Given the description of an element on the screen output the (x, y) to click on. 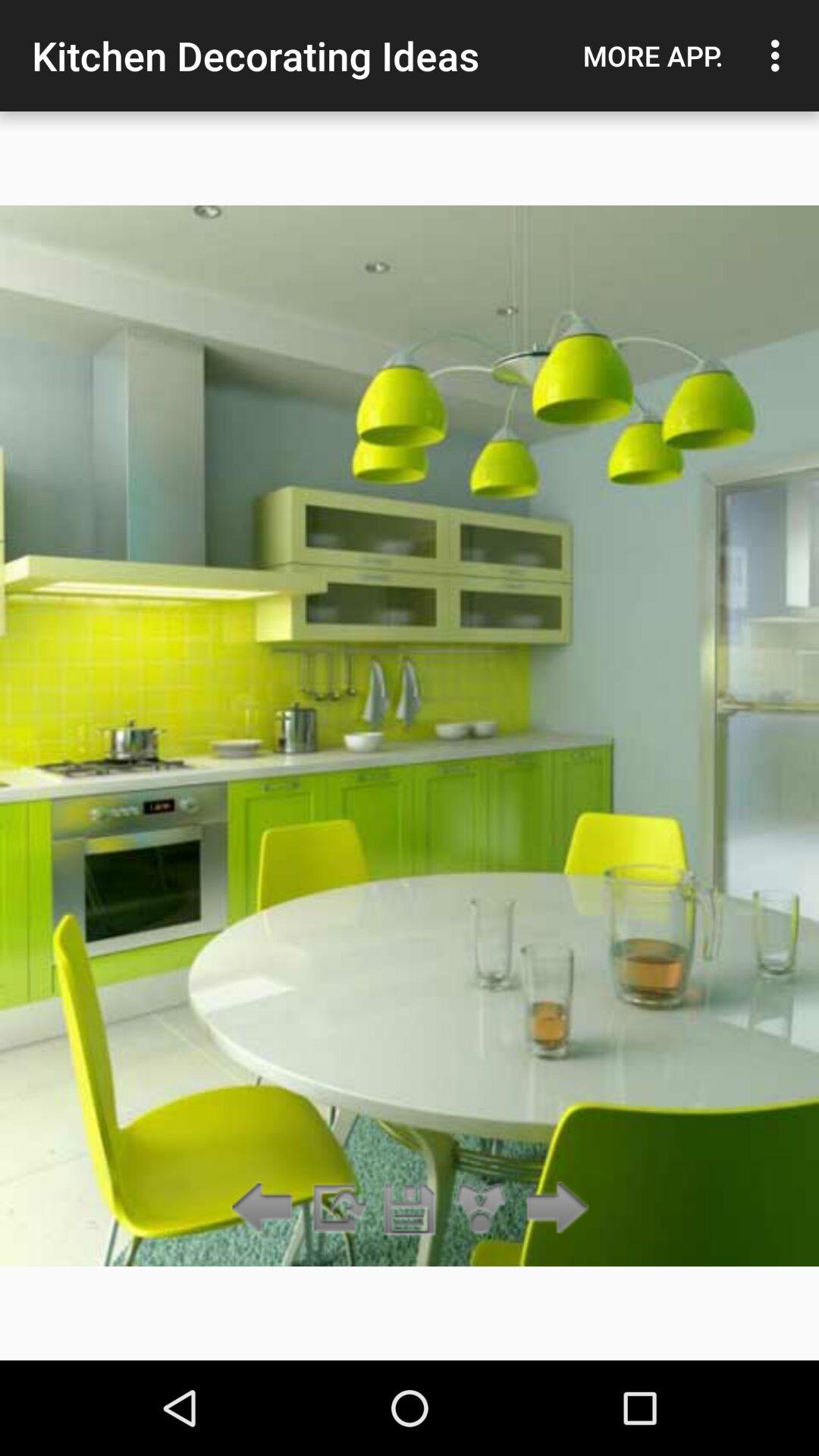
press the item next to the kitchen decorating ideas (653, 55)
